Given the description of an element on the screen output the (x, y) to click on. 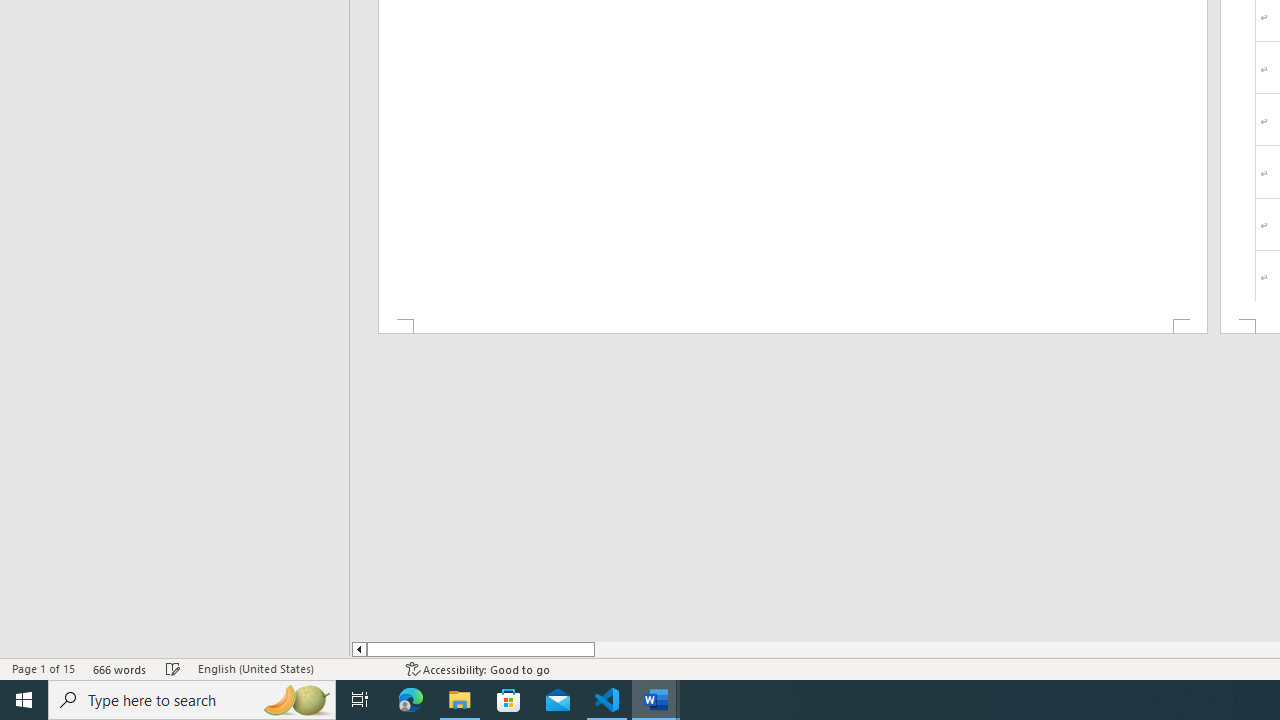
Footer -Section 1- (792, 326)
Column left (358, 649)
Word Count 666 words (119, 668)
Accessibility Checker Accessibility: Good to go (478, 668)
Spelling and Grammar Check Checking (173, 668)
Page Number Page 1 of 15 (43, 668)
Language English (United States) (292, 668)
